Given the description of an element on the screen output the (x, y) to click on. 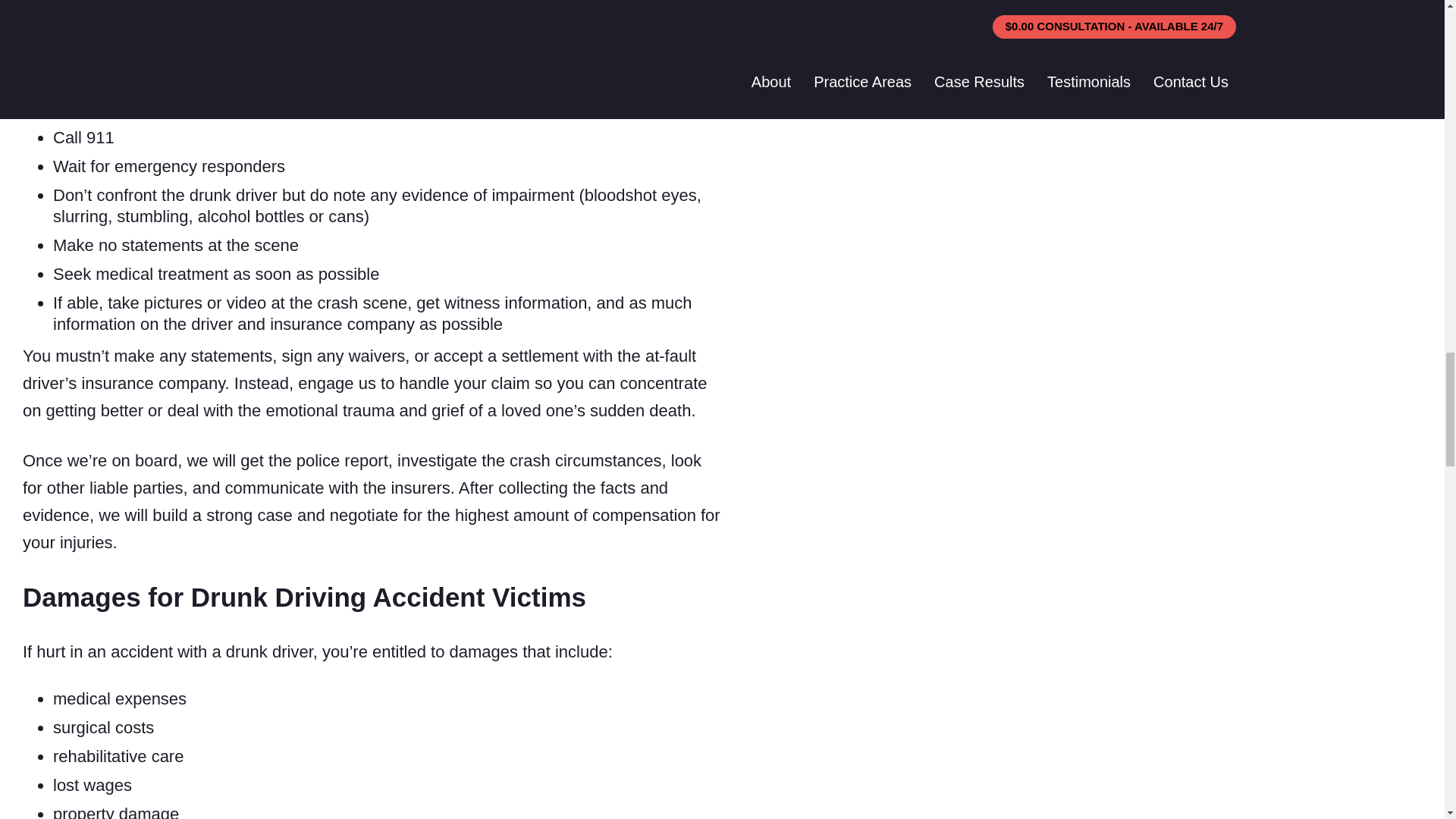
Lost wages from a car accident (92, 784)
Who pays for medical bills after an accident? (119, 698)
medical expenses (119, 698)
lost wages (92, 784)
